Given the description of an element on the screen output the (x, y) to click on. 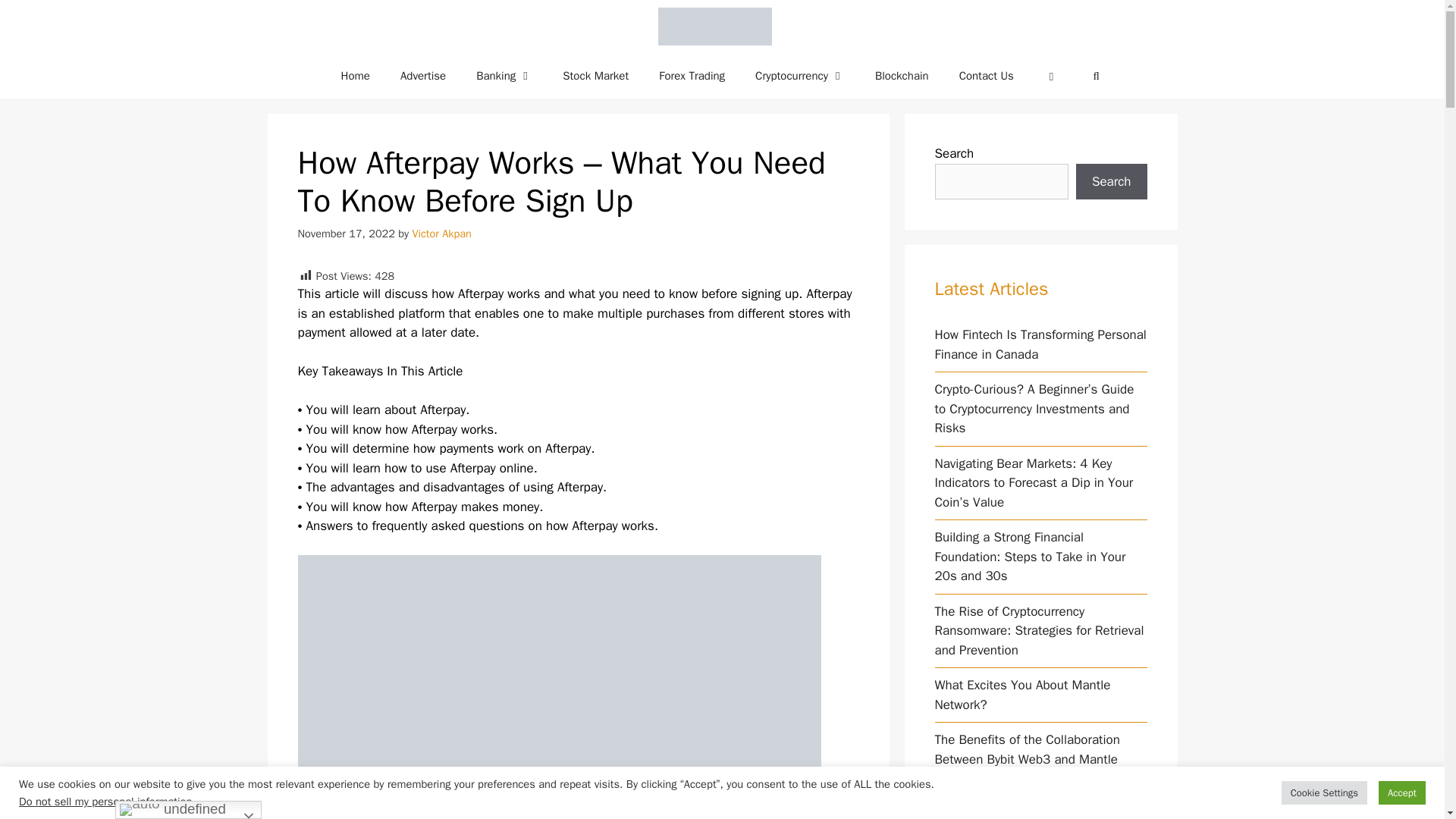
Coin Decimal (718, 26)
Victor Akpan (441, 233)
Banking (504, 75)
Blockchain (901, 75)
Contact Us (986, 75)
Stock Market (595, 75)
Advertise (423, 75)
Cryptocurrency (799, 75)
Coin Decimal (714, 26)
View all posts by Victor Akpan (441, 233)
Forex Trading (691, 75)
Home (355, 75)
